Given the description of an element on the screen output the (x, y) to click on. 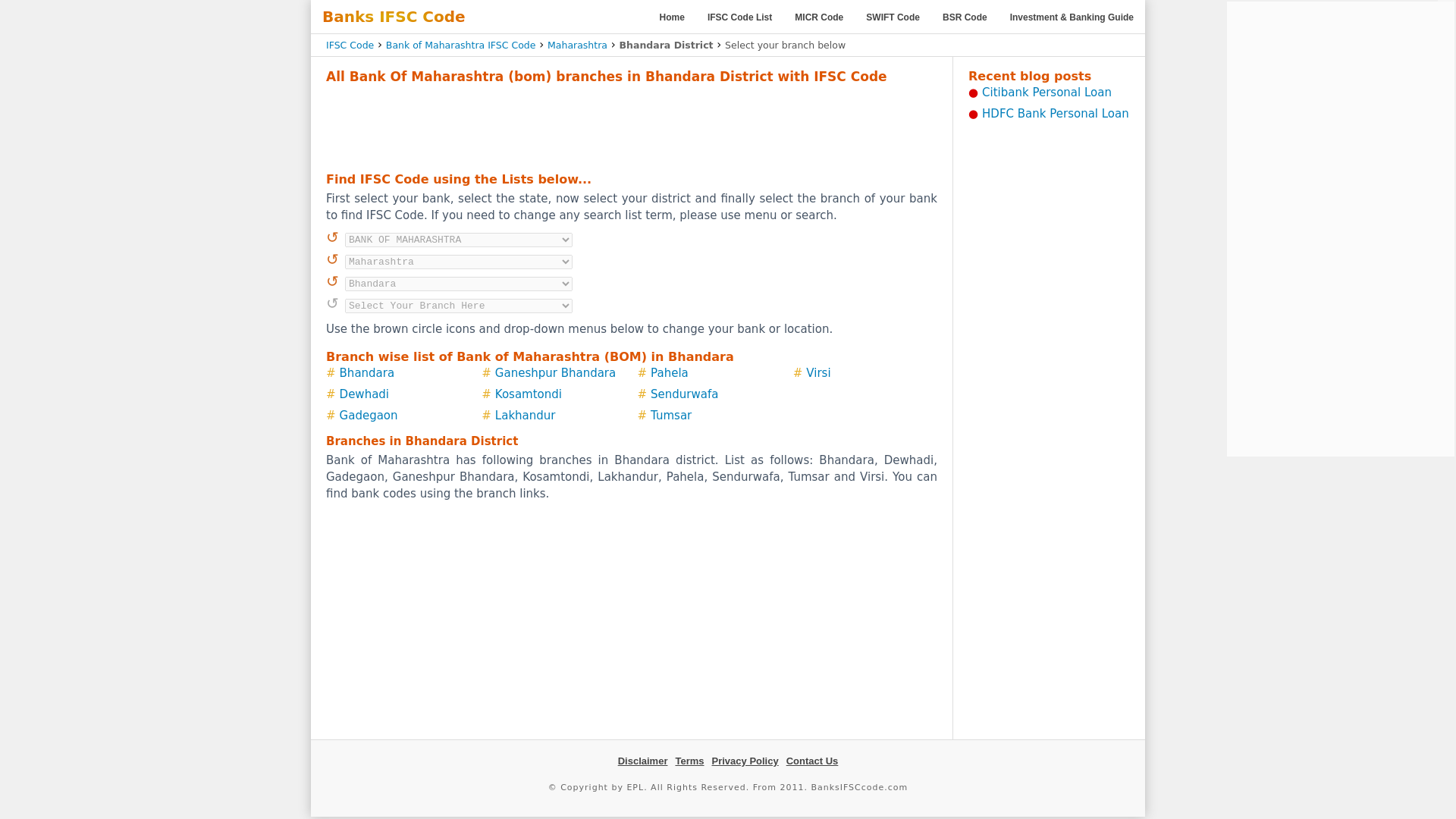
Terms (689, 760)
Citibank Personal Loan (1046, 92)
Disclaimer (642, 760)
Home (671, 17)
Lakhandur (525, 415)
IFSC Code List (739, 17)
Pahela (669, 373)
Gadegaon (368, 415)
Bank Loan, Investment, Banking and Insurance Guide (1072, 17)
All Banks MICR Code List (818, 17)
Kosamtondi (528, 394)
IFSC Code (350, 44)
HDFC Bank Personal Loan (1055, 113)
Ganeshpur Bhandara (555, 373)
Bank of Maharashtra IFSC Code (460, 44)
